Given the description of an element on the screen output the (x, y) to click on. 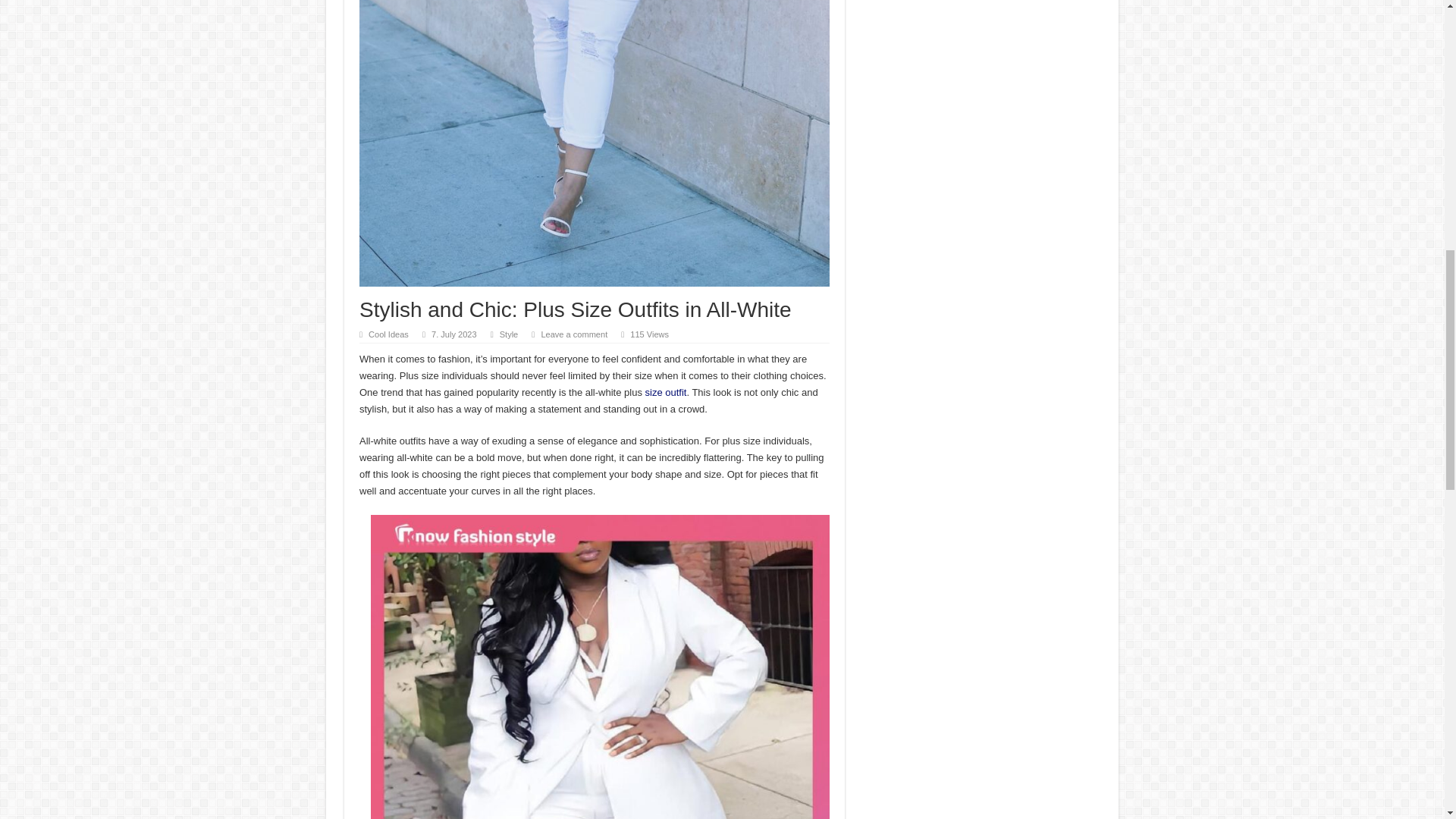
Style (508, 334)
Leave a comment (573, 334)
All-White Plus Size Outfits (665, 392)
size outfit (665, 392)
Cool Ideas (388, 334)
